Given the description of an element on the screen output the (x, y) to click on. 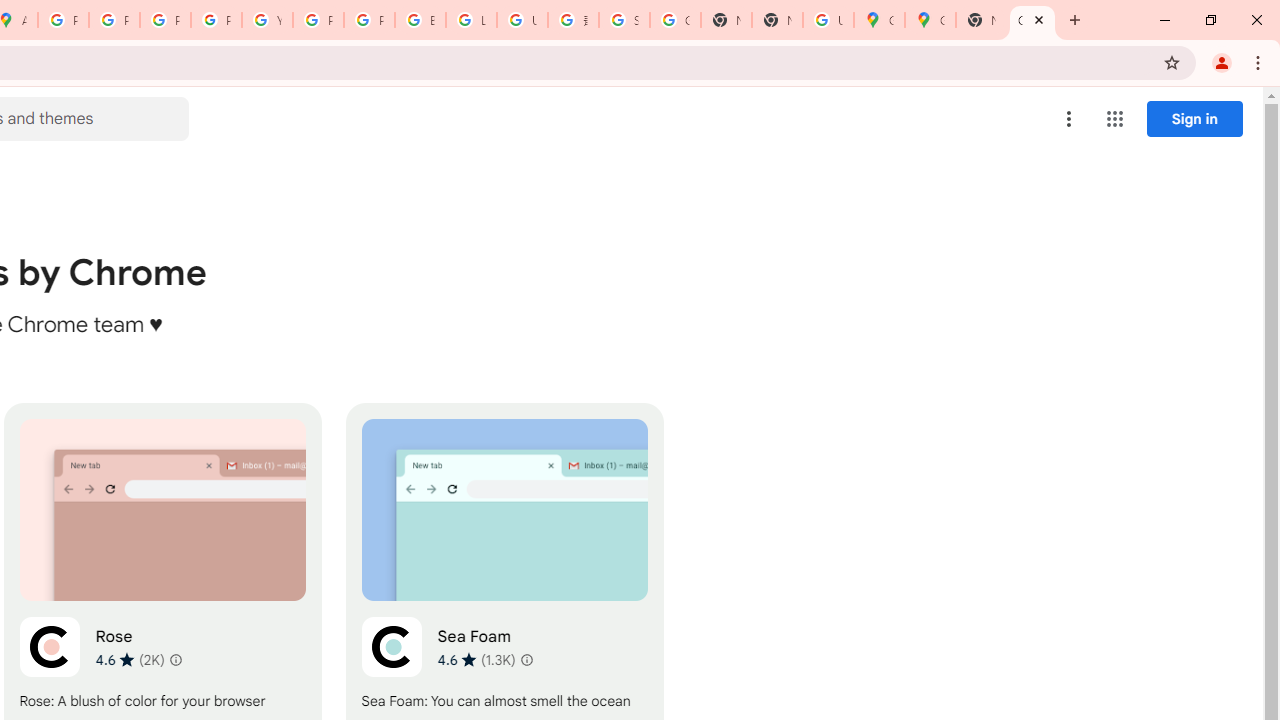
Use Google Maps in Space - Google Maps Help (827, 20)
Average rating 4.6 out of 5 stars. 1.3K ratings. (475, 659)
Policy Accountability and Transparency - Transparency Center (63, 20)
More options menu (1069, 118)
Learn more about results and reviews "Rose" (175, 659)
Google Maps (878, 20)
Privacy Help Center - Policies Help (113, 20)
